Given the description of an element on the screen output the (x, y) to click on. 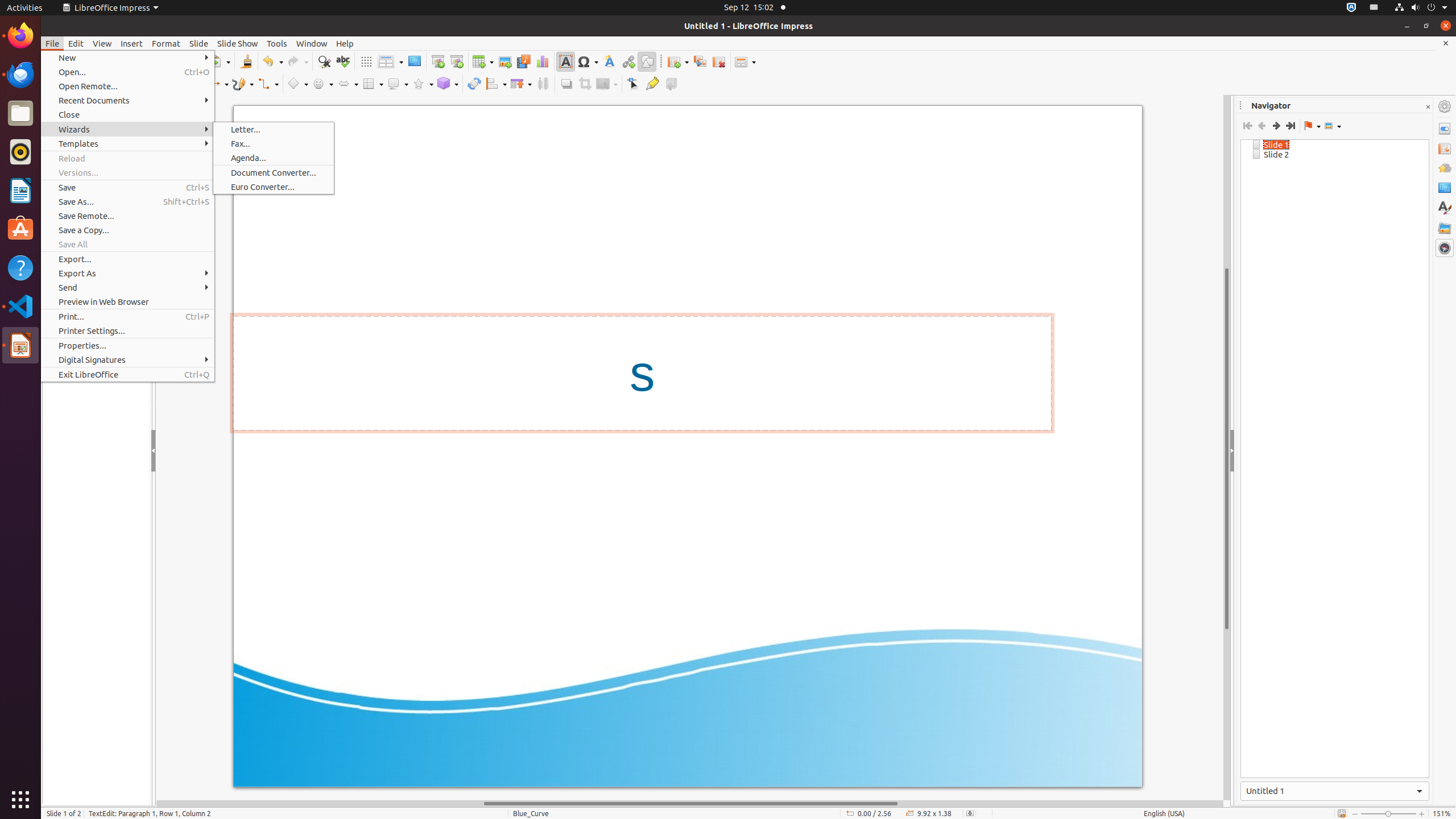
Save Element type: menu-item (127, 187)
Wizards Element type: menu (127, 129)
Export As Element type: menu (127, 273)
Printer Settings... Element type: menu-item (127, 330)
Reload Element type: menu-item (127, 158)
